Given the description of an element on the screen output the (x, y) to click on. 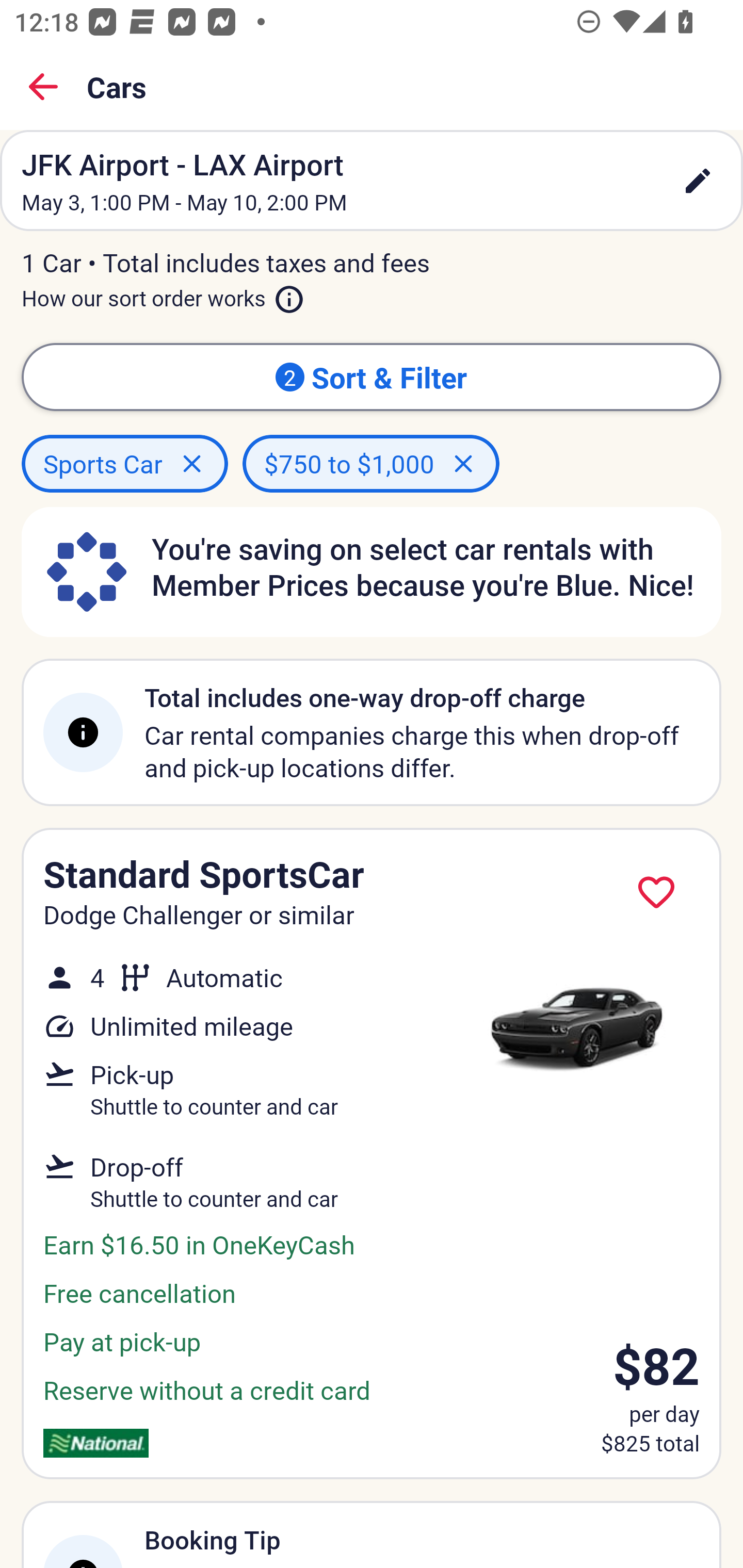
Back (43, 86)
edit (697, 180)
How our sort order works (163, 294)
2 Sort & Filter (371, 376)
